Given the description of an element on the screen output the (x, y) to click on. 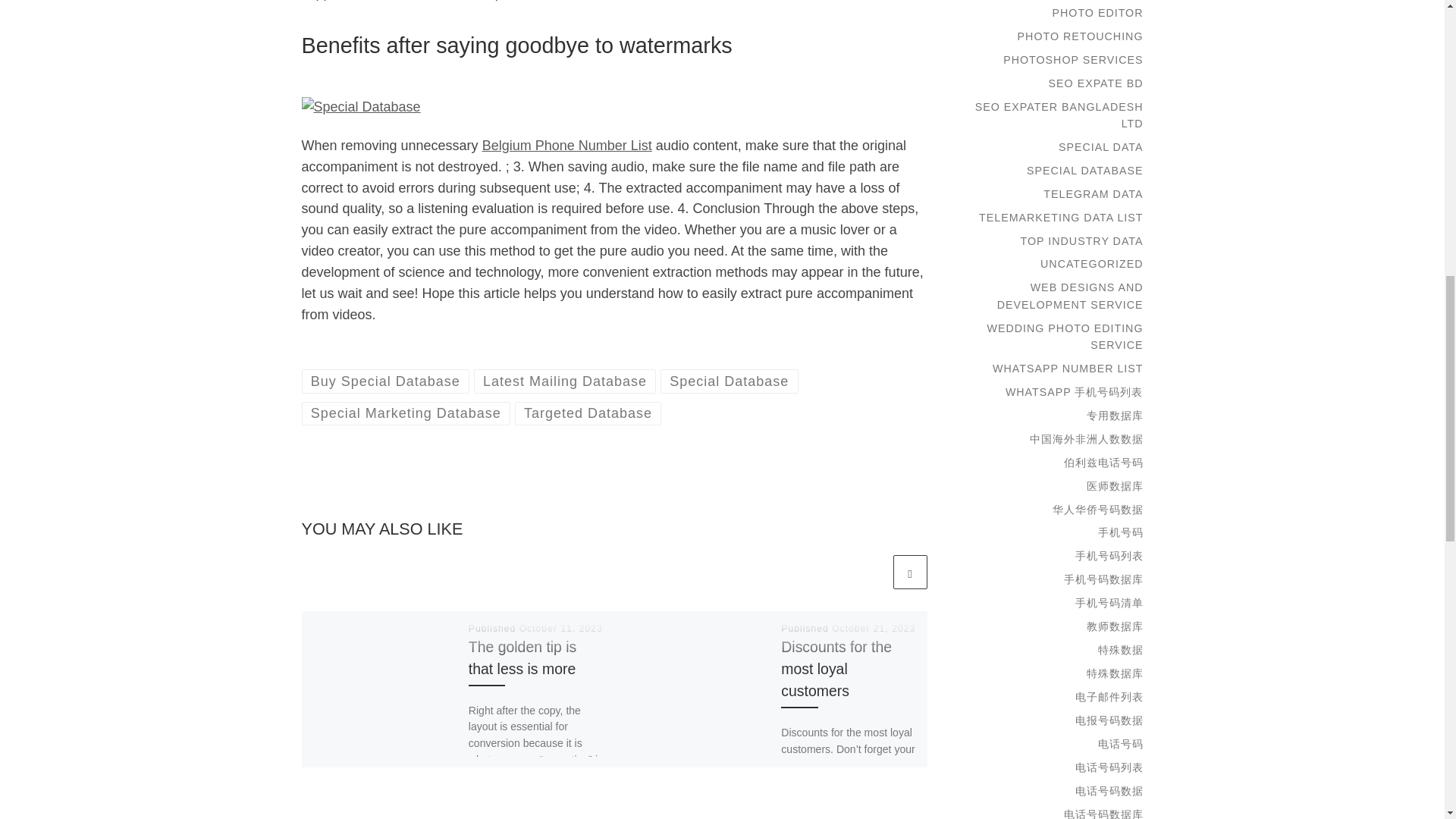
View all posts in Buy Special Database (385, 381)
October 21, 2023 (873, 628)
View all posts in Special Database (729, 381)
The golden tip is that less is more (522, 657)
Special Database (729, 381)
October 11, 2023 (560, 628)
View all posts in Special Marketing Database (406, 413)
View all posts in Latest Mailing Database (565, 381)
View all posts in Targeted Database (588, 413)
Special Marketing Database (406, 413)
